Given the description of an element on the screen output the (x, y) to click on. 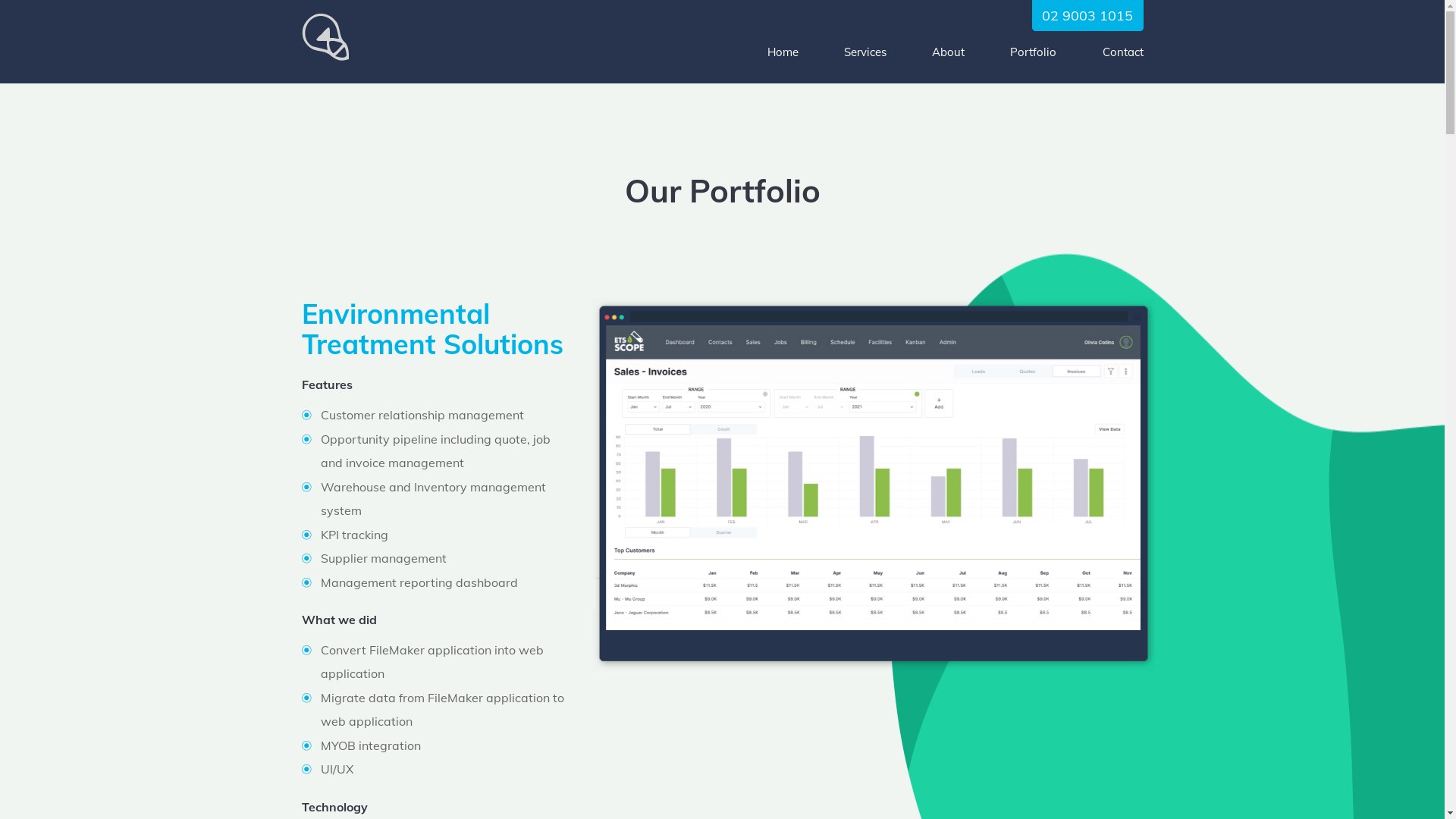
Home Element type: text (782, 51)
Services Element type: text (865, 52)
Contact Element type: text (1122, 51)
Portfolio Element type: text (1033, 51)
About Element type: text (947, 51)
